Given the description of an element on the screen output the (x, y) to click on. 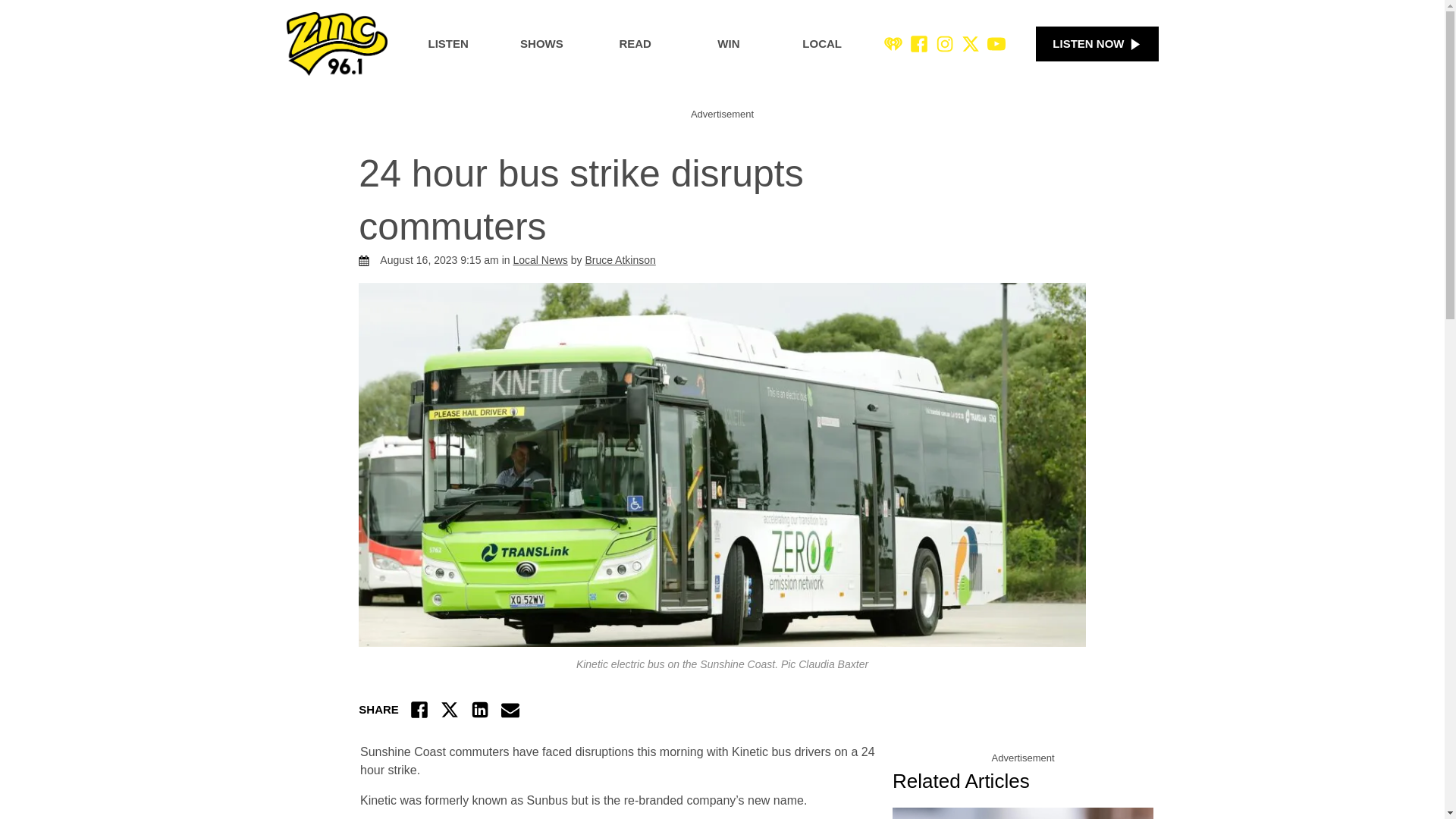
READ (634, 43)
YouTube (996, 44)
LOCAL (822, 43)
Posts by Bruce Atkinson (620, 259)
SHOWS (541, 43)
WIN (727, 43)
LISTEN (448, 43)
Instagram (944, 44)
LISTEN NOW (1096, 44)
iHeart (892, 44)
Facebook (919, 44)
